Given the description of an element on the screen output the (x, y) to click on. 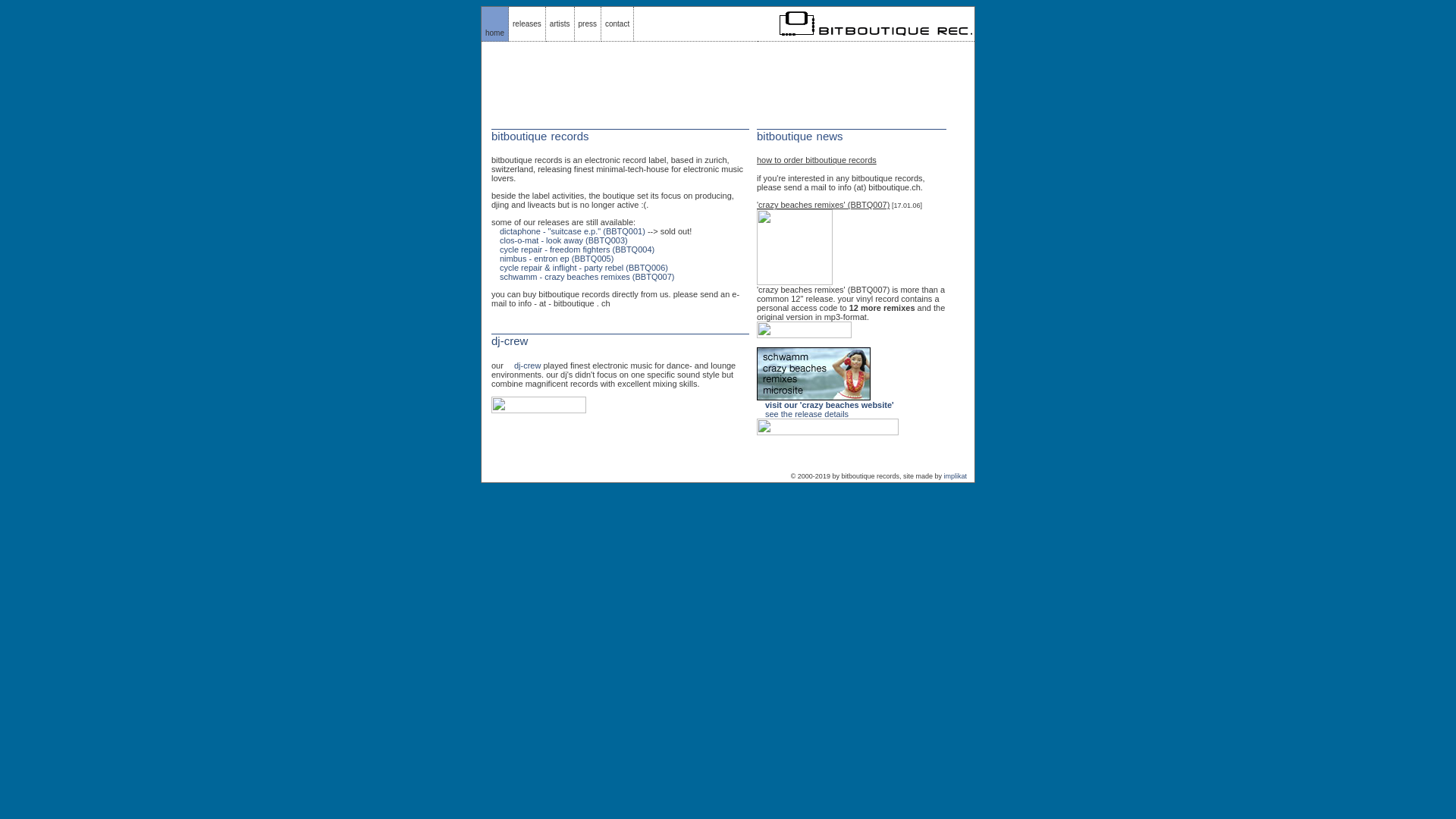
cycle repair - freedom fighters (BBTQ004) Element type: text (576, 249)
schwamm - crazy beaches remixes (BBTQ007) Element type: text (586, 276)
contact Element type: text (617, 23)
dictaphone - "suitcase e.p." (BBTQ001) Element type: text (572, 230)
see the release details Element type: text (806, 413)
press Element type: text (586, 23)
cycle repair & inflight - party rebel (BBTQ006) Element type: text (583, 267)
dj-crew Element type: text (509, 340)
dj-crew Element type: text (527, 365)
artists Element type: text (559, 23)
visit our 'crazy beaches website' Element type: text (829, 404)
nimbus - entron ep (BBTQ005) Element type: text (556, 258)
home Element type: text (494, 32)
clos-o-mat - look away (BBTQ003) Element type: text (563, 239)
implikat Element type: text (954, 476)
releases Element type: text (526, 23)
